Given the description of an element on the screen output the (x, y) to click on. 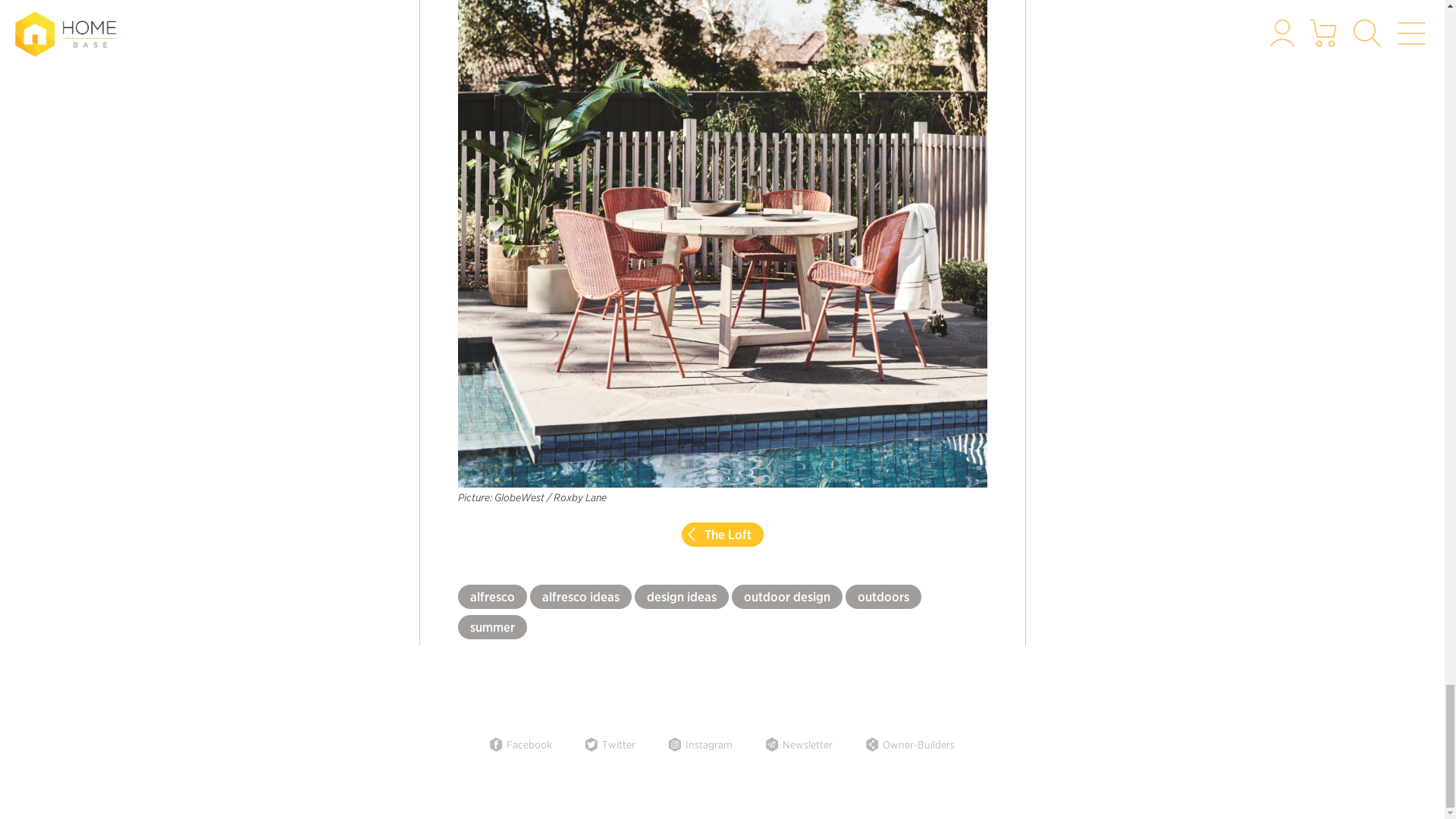
alfresco ideas (579, 596)
Owner-Builders (910, 744)
Instagram (700, 744)
Newsletter (798, 744)
alfresco (492, 596)
outdoor design (785, 596)
outdoors (882, 596)
Facebook (520, 744)
summer (492, 627)
The Loft (721, 534)
